Given the description of an element on the screen output the (x, y) to click on. 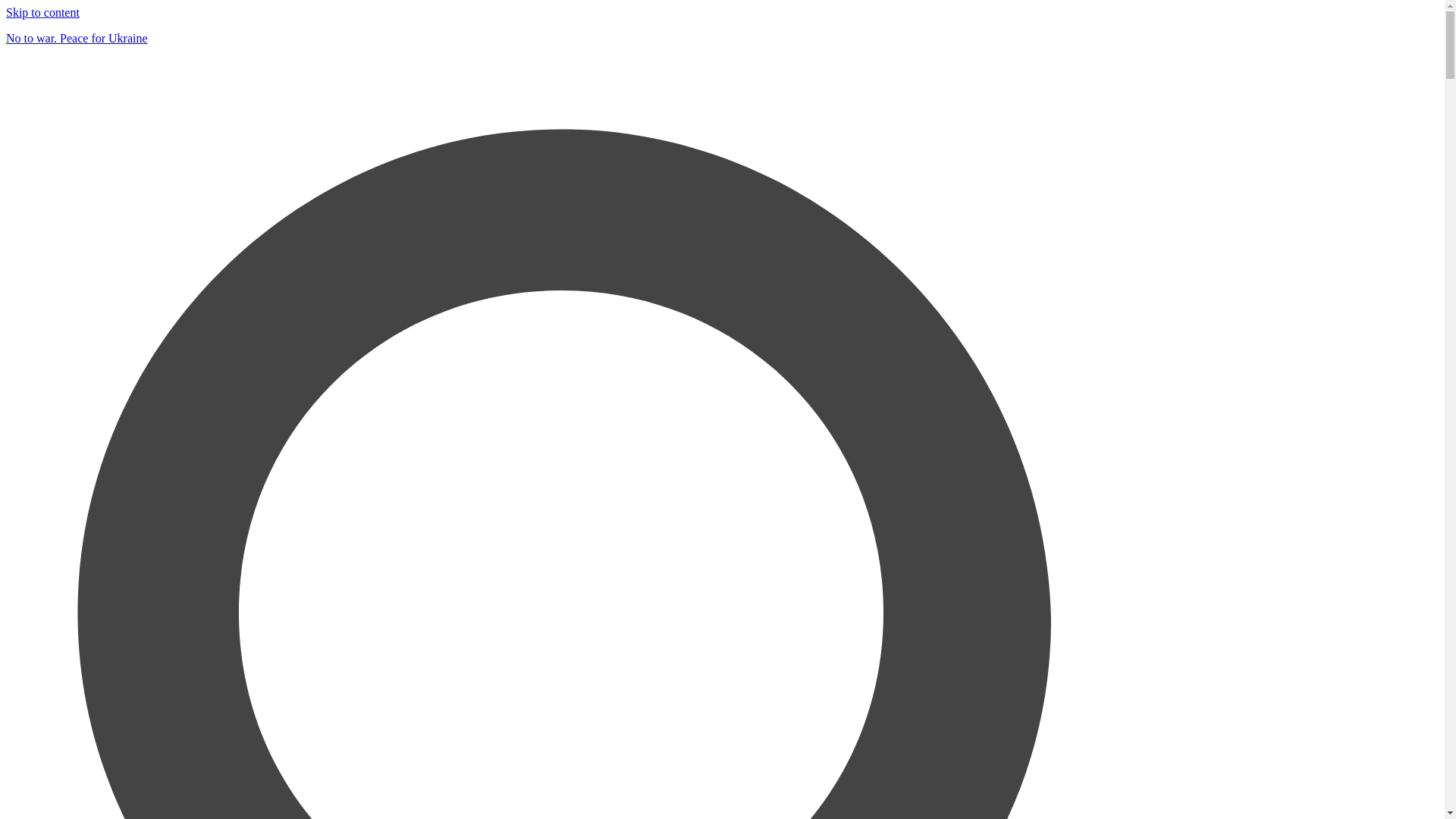
Skip to content Element type: text (42, 12)
No to war. Peace for Ukraine Element type: text (722, 38)
